Given the description of an element on the screen output the (x, y) to click on. 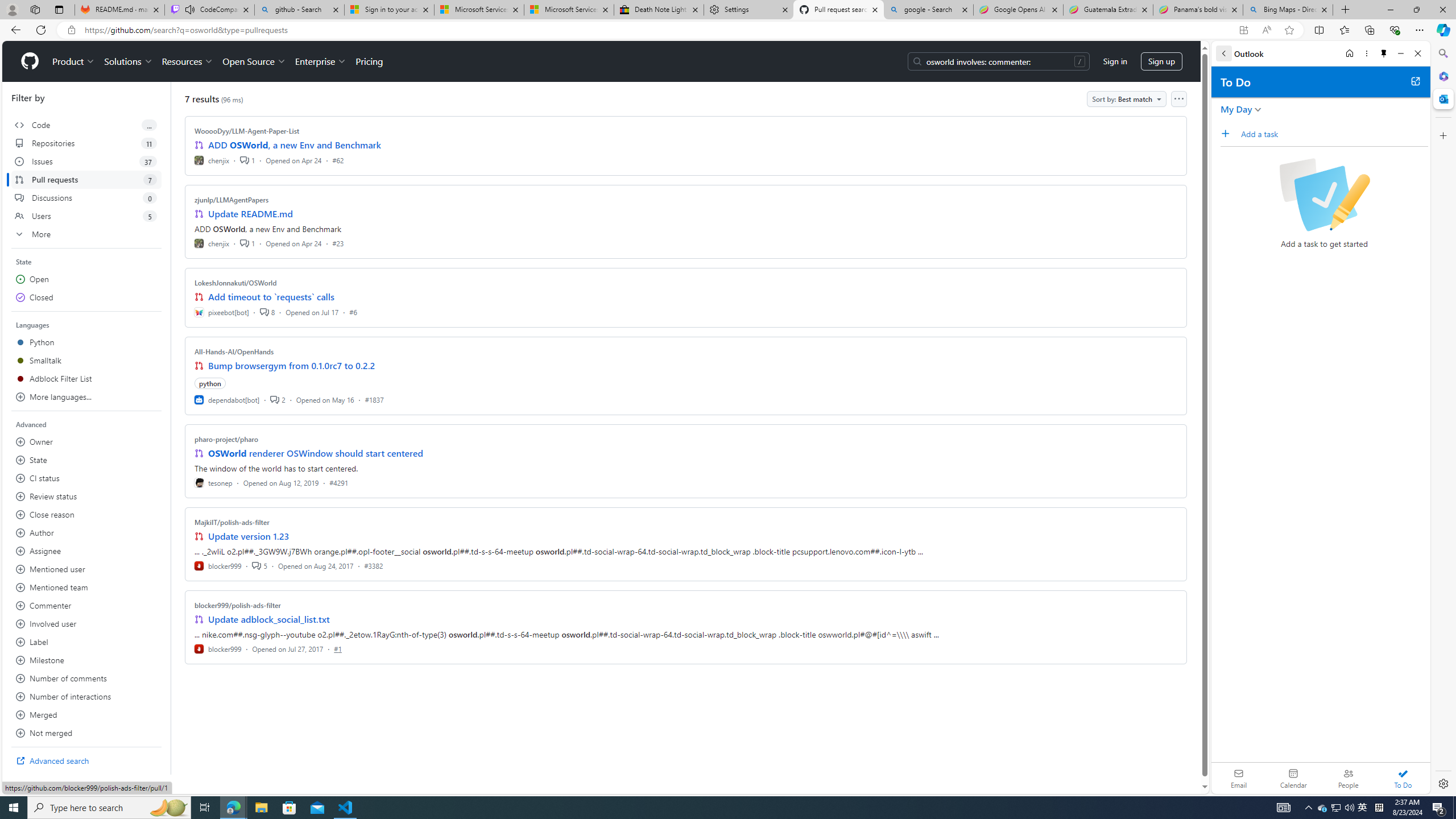
Mute tab (189, 8)
Update adblock_social_list.txt (269, 619)
Bump browsergym from 0.1.0rc7 to 0.2.2 (291, 365)
pixeebot[bot] (221, 311)
Calendar. Date today is 22 (1293, 777)
